Given the description of an element on the screen output the (x, y) to click on. 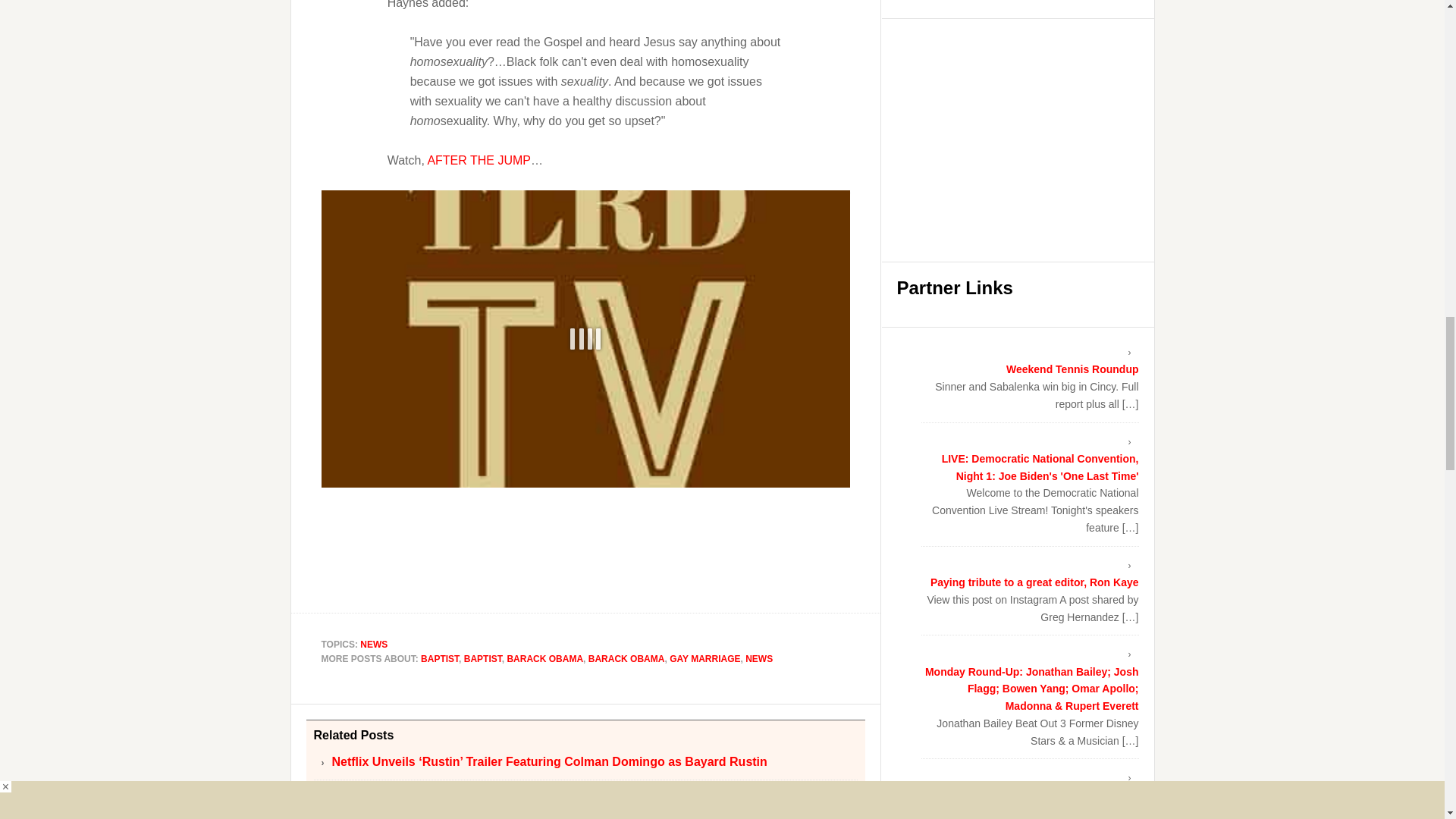
AFTER THE JUMP (478, 159)
BAPTIST (483, 658)
BAPTIST (439, 658)
NEWS (373, 644)
